Given the description of an element on the screen output the (x, y) to click on. 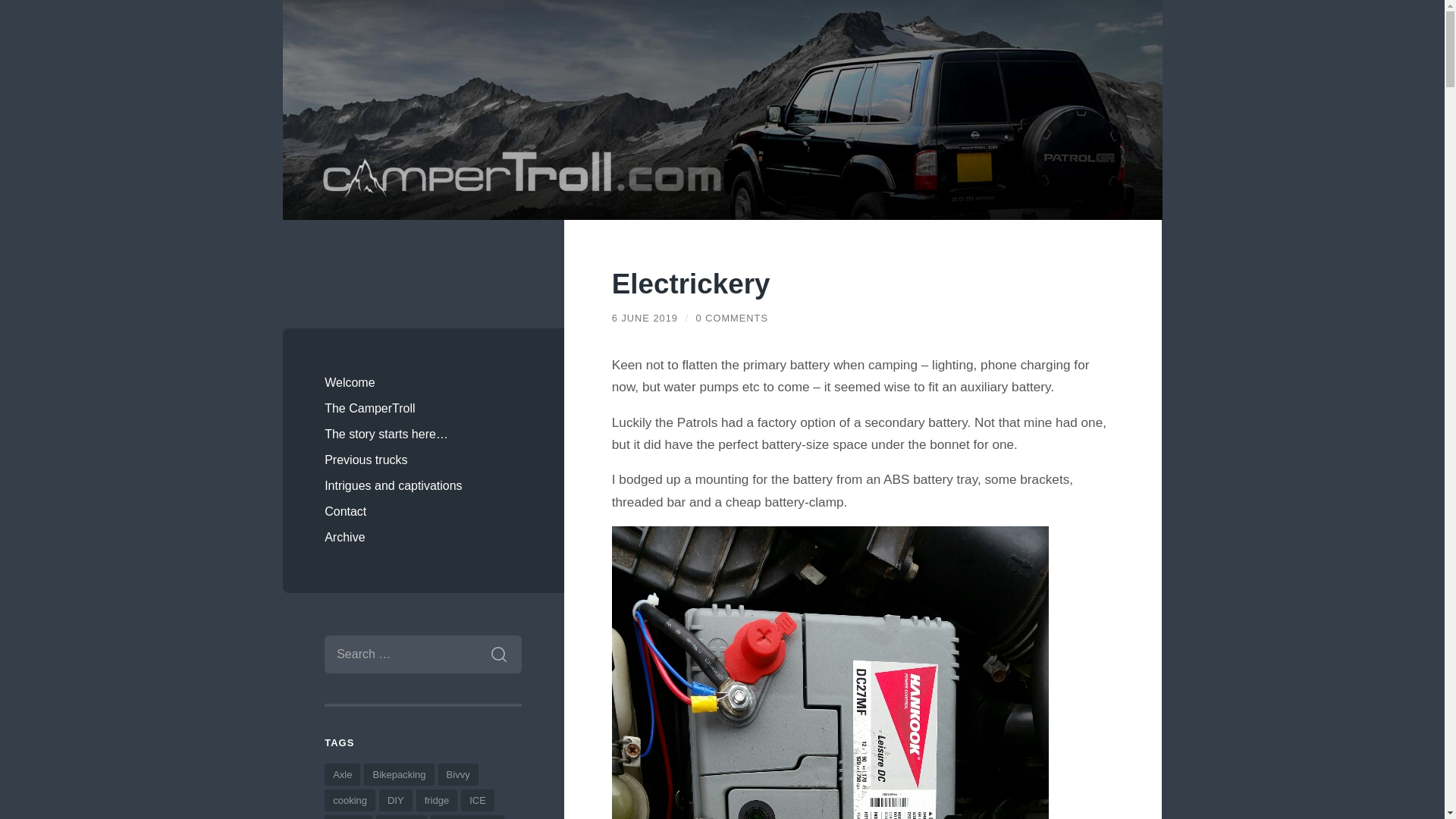
ICE (478, 800)
Bikepacking (398, 774)
Search (498, 654)
Bivvy (458, 774)
The CamperTroll (422, 408)
Intrigues and captivations (422, 485)
DIY (395, 800)
fridge (437, 800)
Search (498, 654)
Maintenance (466, 816)
